Given the description of an element on the screen output the (x, y) to click on. 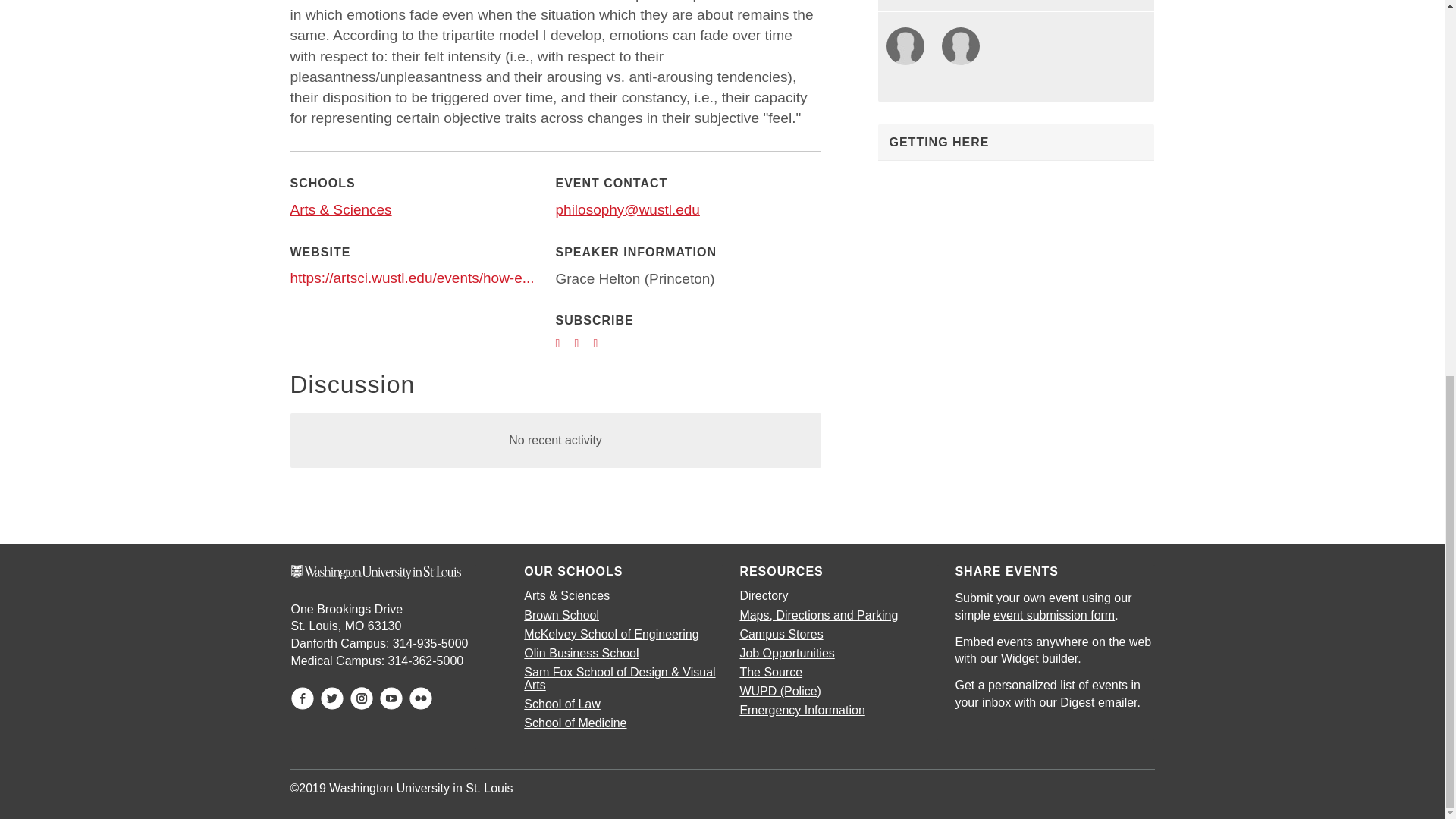
Google Calendar (562, 344)
Save to Outlook (600, 344)
Olin Business School (581, 653)
Twitter (331, 698)
Brown School (561, 615)
Flickr (420, 698)
iCal (582, 344)
Save to iCal (582, 344)
YouTube (391, 698)
Yifei Wang (905, 47)
Outlook (600, 344)
Instagram (361, 698)
Event Location Map (1015, 255)
McKelvey School of Engineering (611, 634)
Juman Al Bukhari (960, 47)
